Given the description of an element on the screen output the (x, y) to click on. 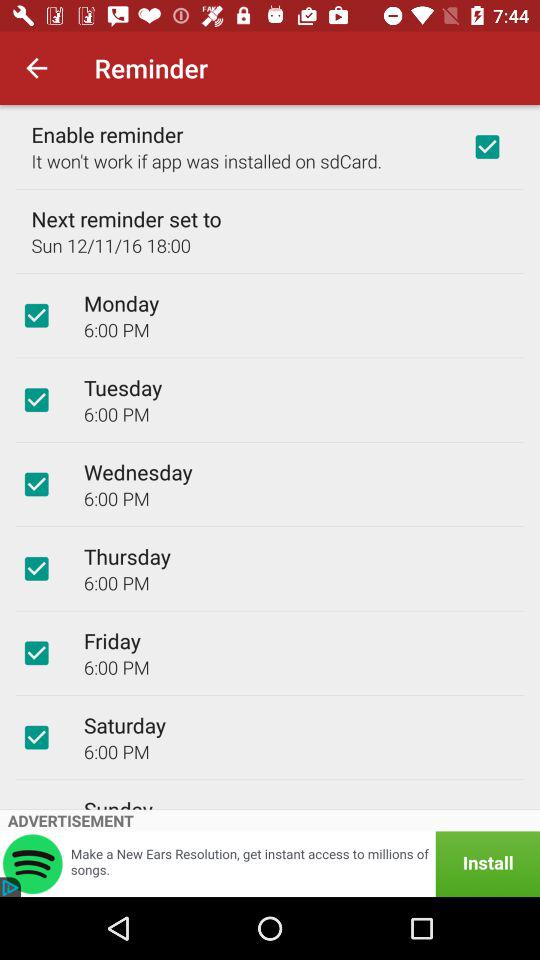
choose wednesday button (36, 484)
